Given the description of an element on the screen output the (x, y) to click on. 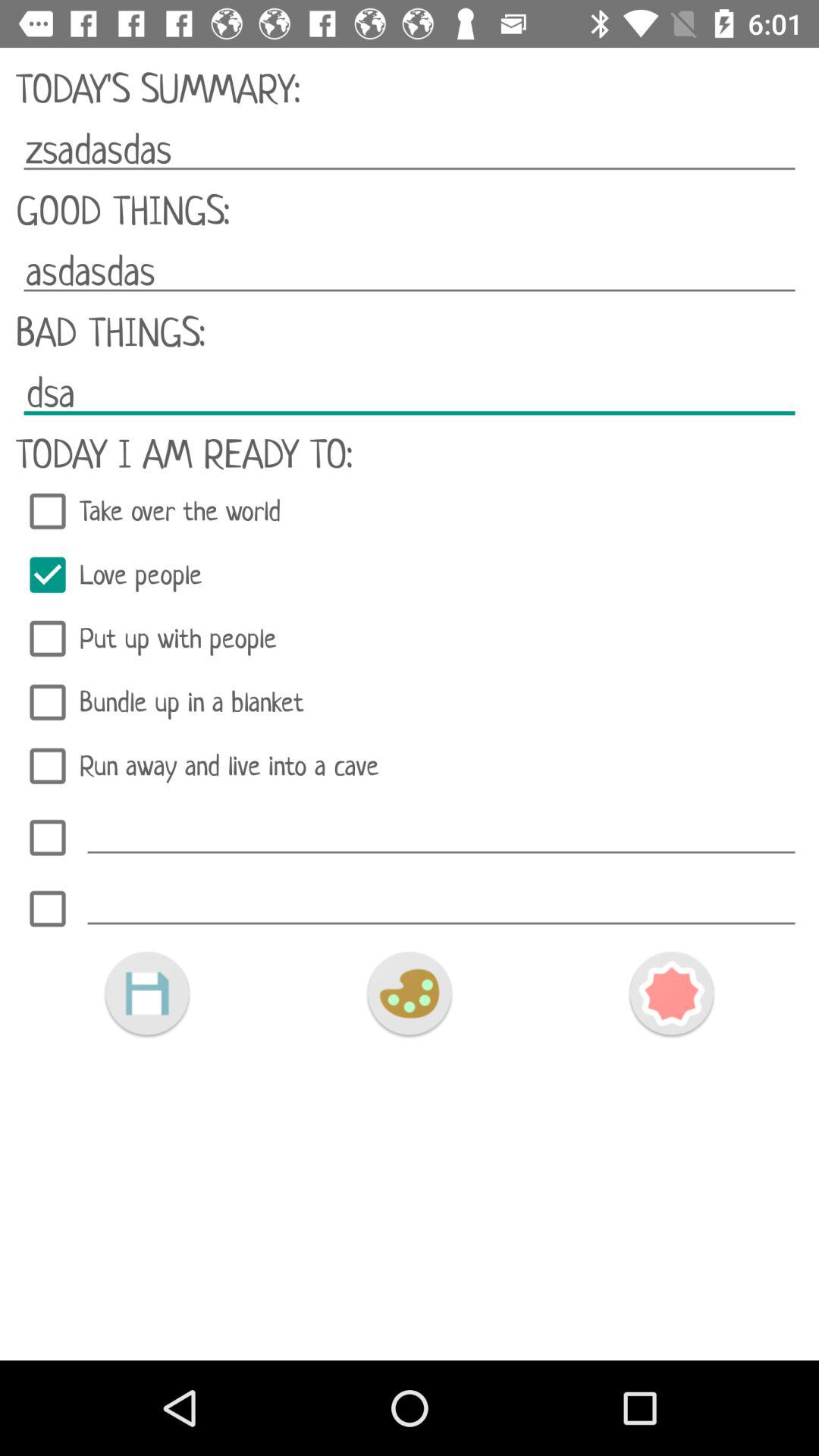
click icon above good things: (409, 149)
